Given the description of an element on the screen output the (x, y) to click on. 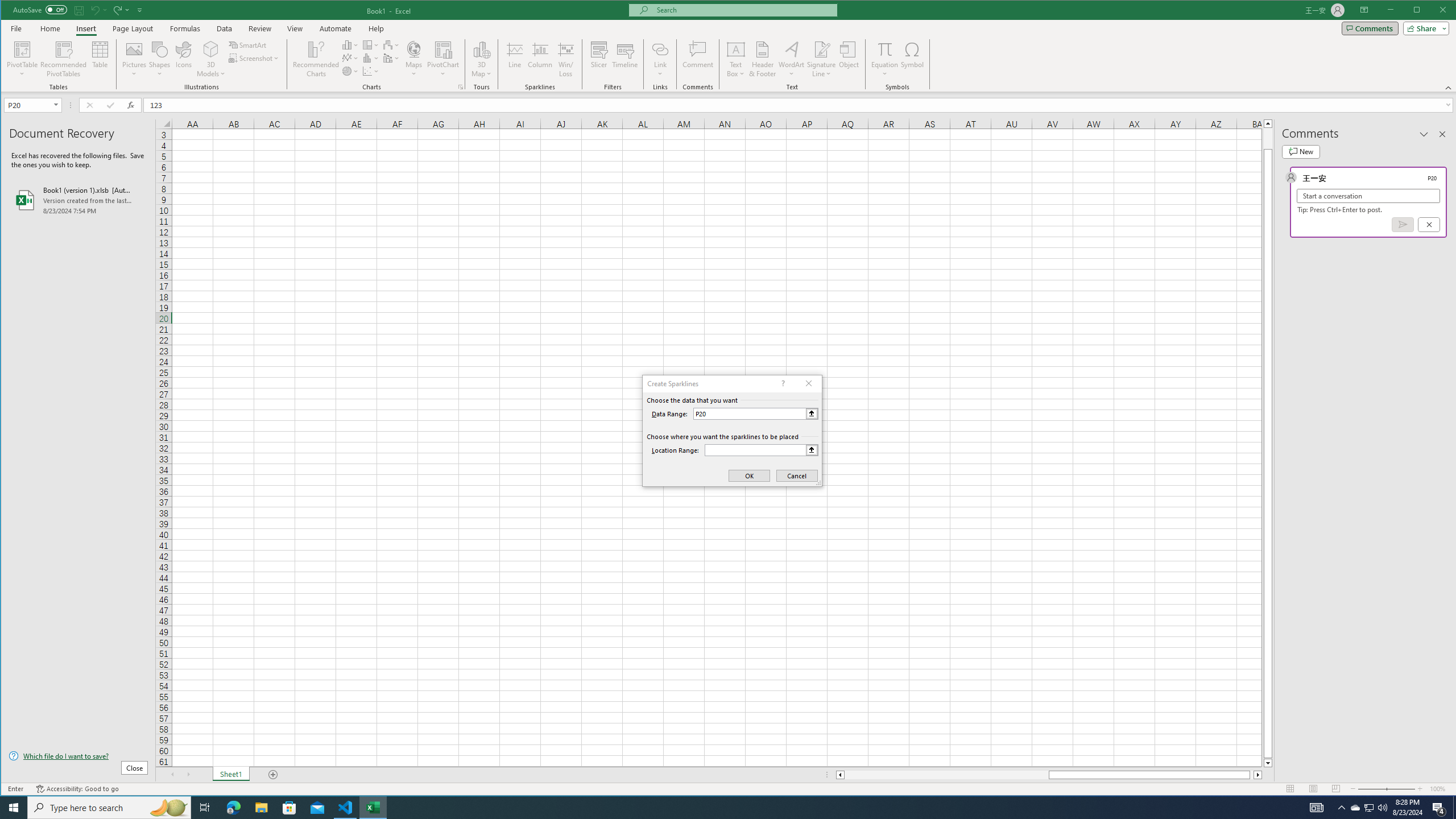
3D Models (211, 48)
